Given the description of an element on the screen output the (x, y) to click on. 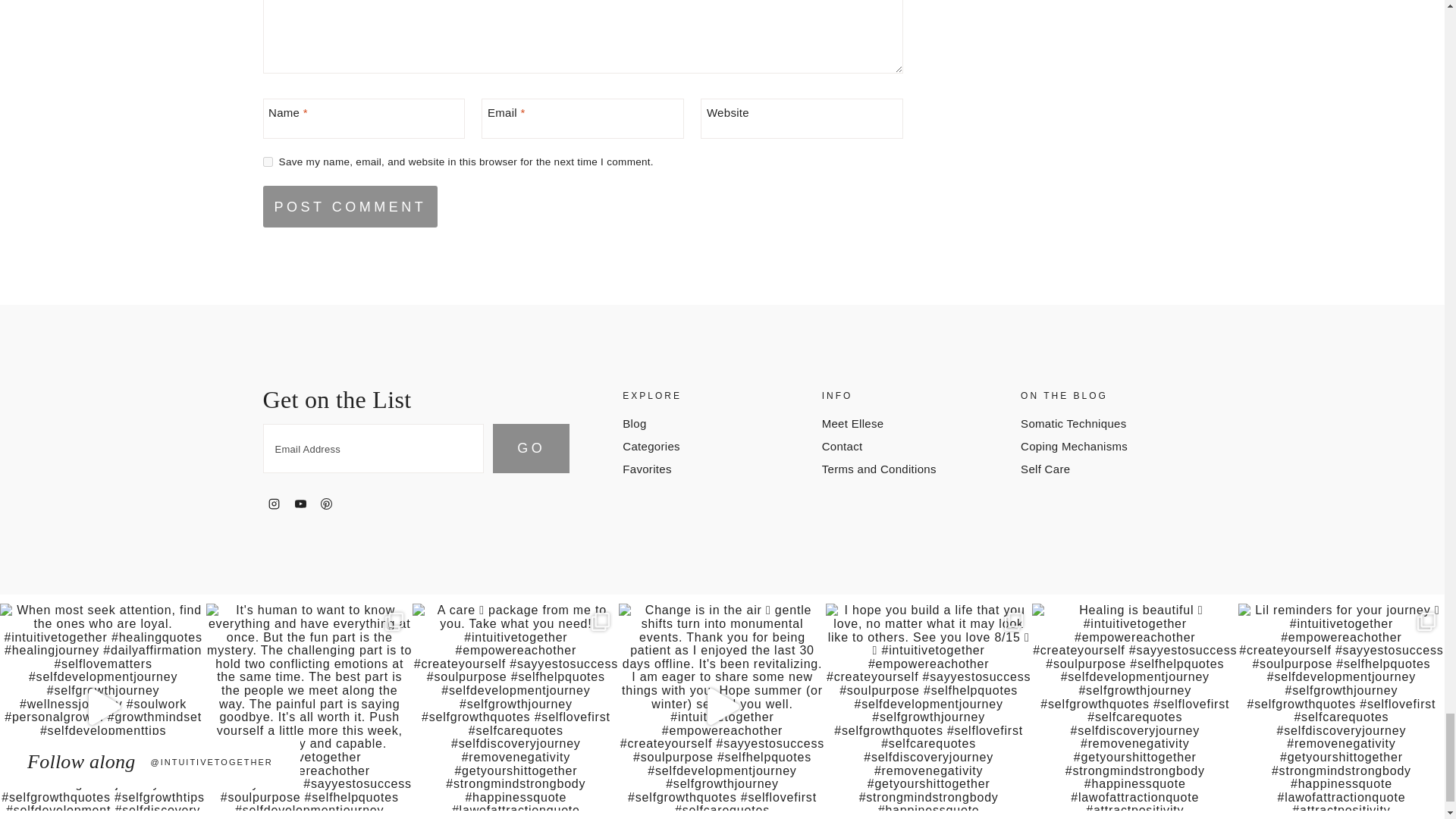
yes (267, 162)
Post Comment (350, 206)
Go (531, 448)
